Given the description of an element on the screen output the (x, y) to click on. 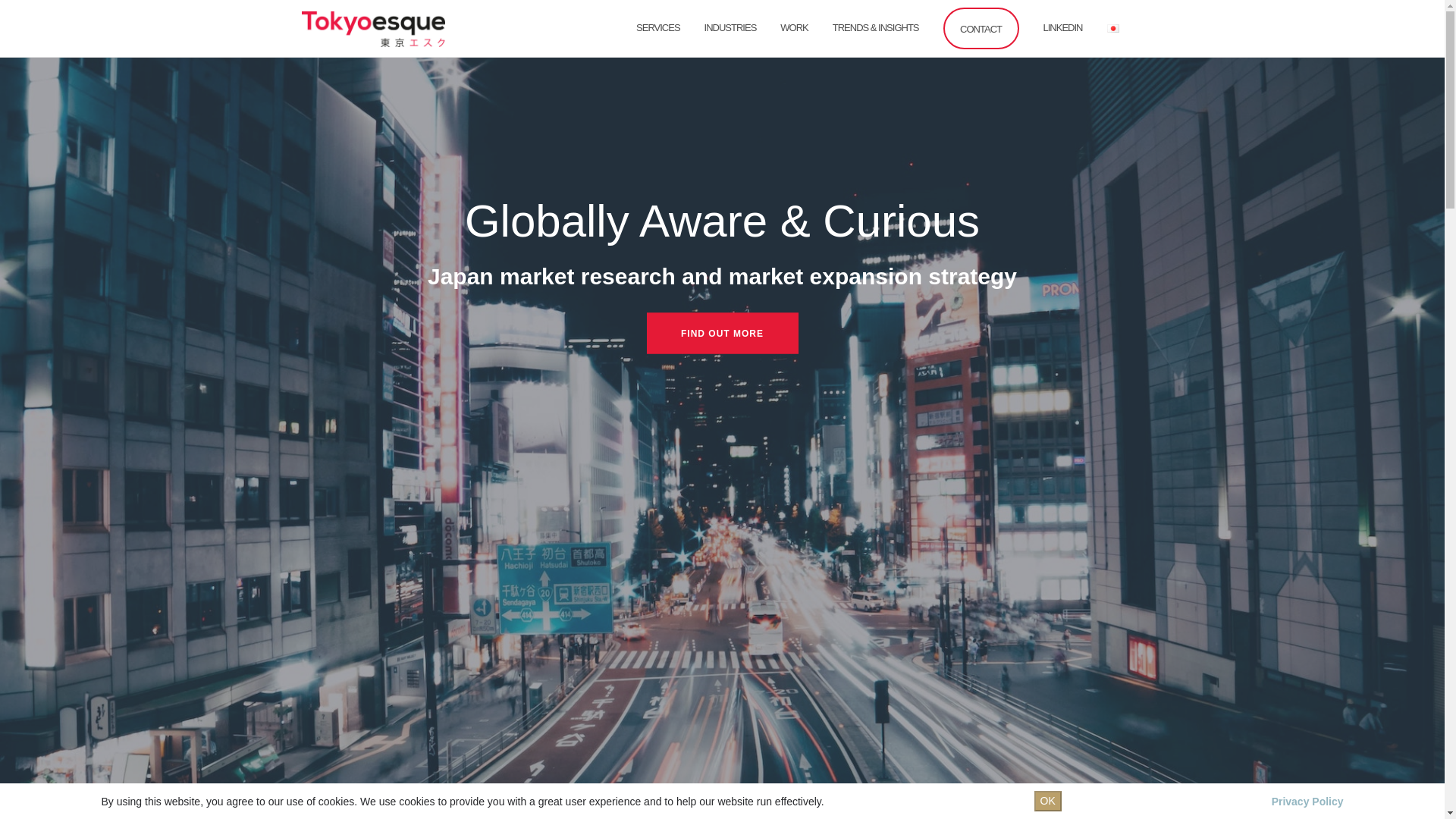
SERVICES (657, 28)
CONTACT (981, 28)
FIND OUT MORE (721, 332)
LINKEDIN (1063, 28)
INDUSTRIES (730, 28)
Industries (730, 28)
LinkedIn (1063, 28)
Contact (981, 28)
Services (657, 28)
